Given the description of an element on the screen output the (x, y) to click on. 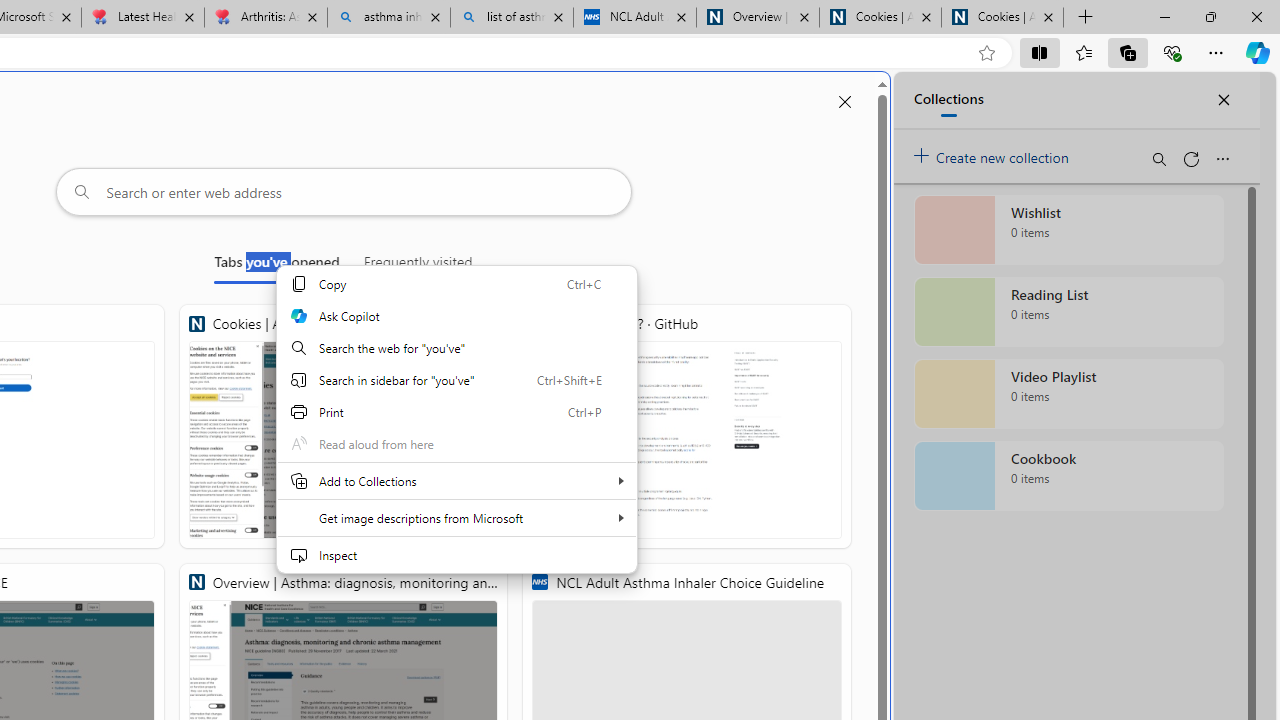
Web context (456, 419)
Close split screen (844, 102)
Inspect (456, 554)
Copy (456, 283)
Read aloud from here (456, 443)
Print (456, 411)
Cookies | About | NICE (1002, 17)
Add to Collections (456, 480)
